Given the description of an element on the screen output the (x, y) to click on. 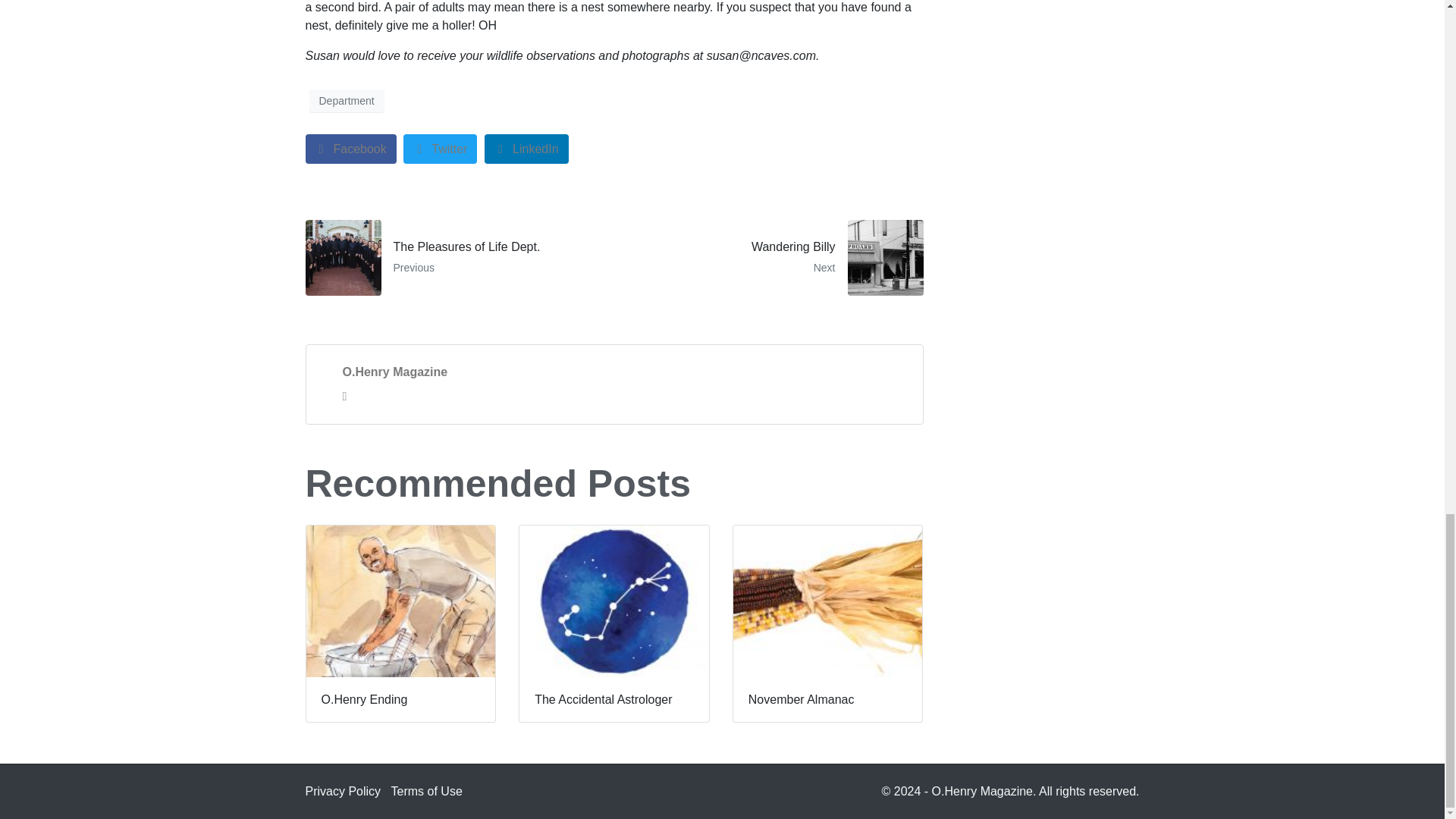
O.Henry Magazine (395, 372)
LinkedIn (774, 257)
Twitter (526, 148)
Wandering Billy (440, 148)
Department (774, 257)
Facebook (346, 100)
The Pleasures of Life Dept. (350, 148)
